Given the description of an element on the screen output the (x, y) to click on. 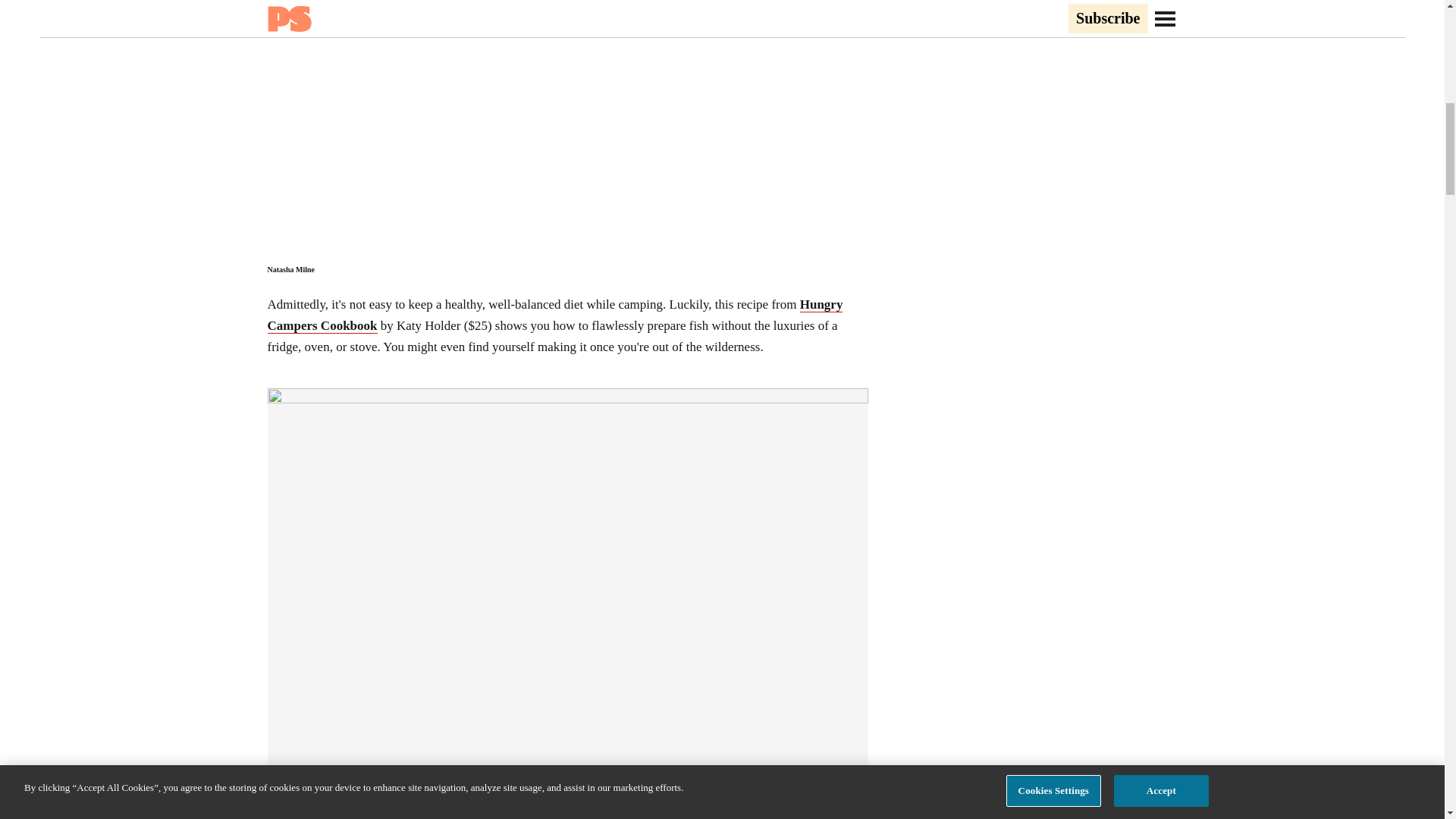
Hungry Campers Cookbook (554, 315)
